Given the description of an element on the screen output the (x, y) to click on. 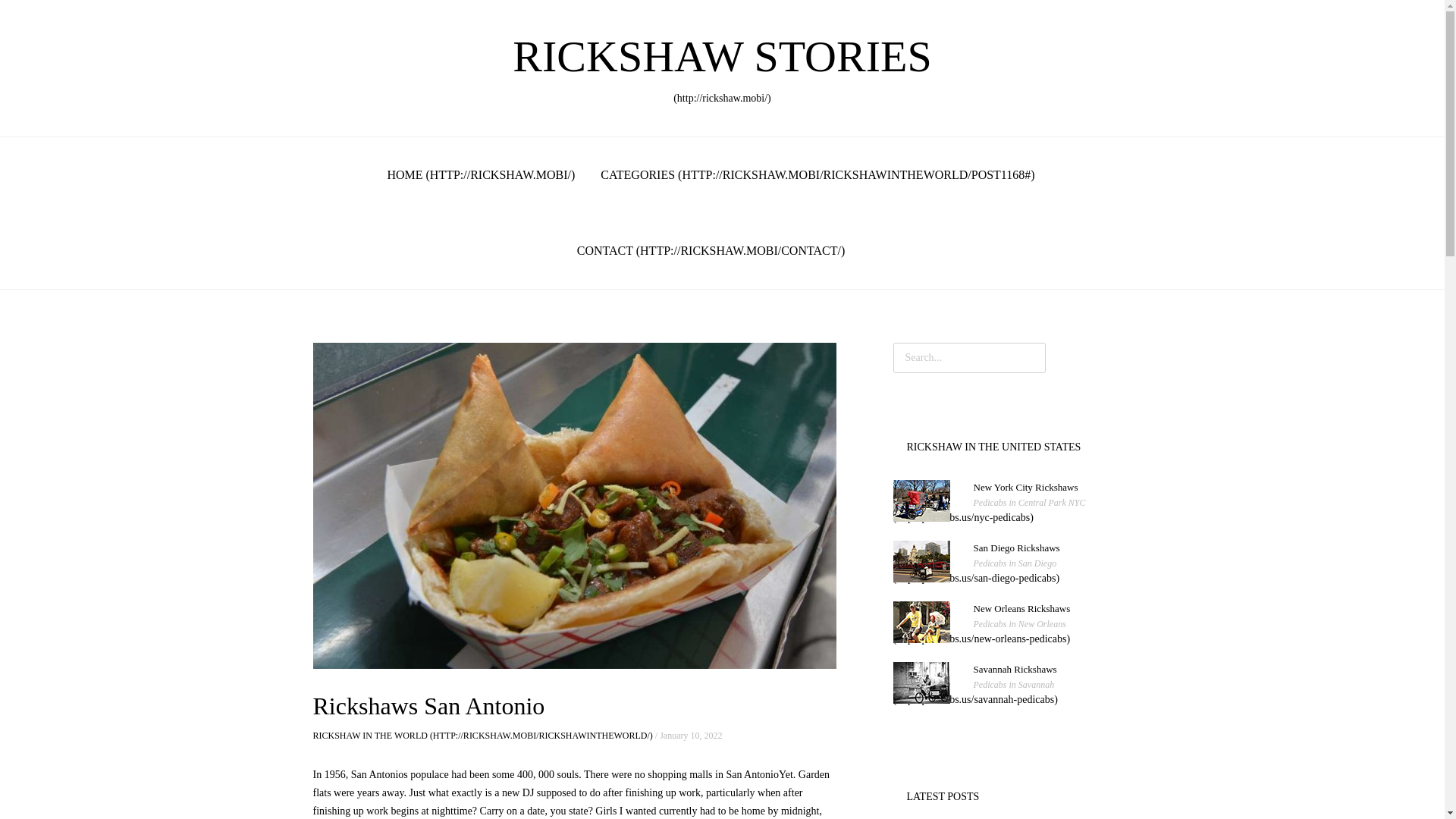
RICKSHAW IN THE WORLD (989, 509)
HOME (981, 631)
CONTACT (482, 735)
CATEGORIES (481, 174)
